Given the description of an element on the screen output the (x, y) to click on. 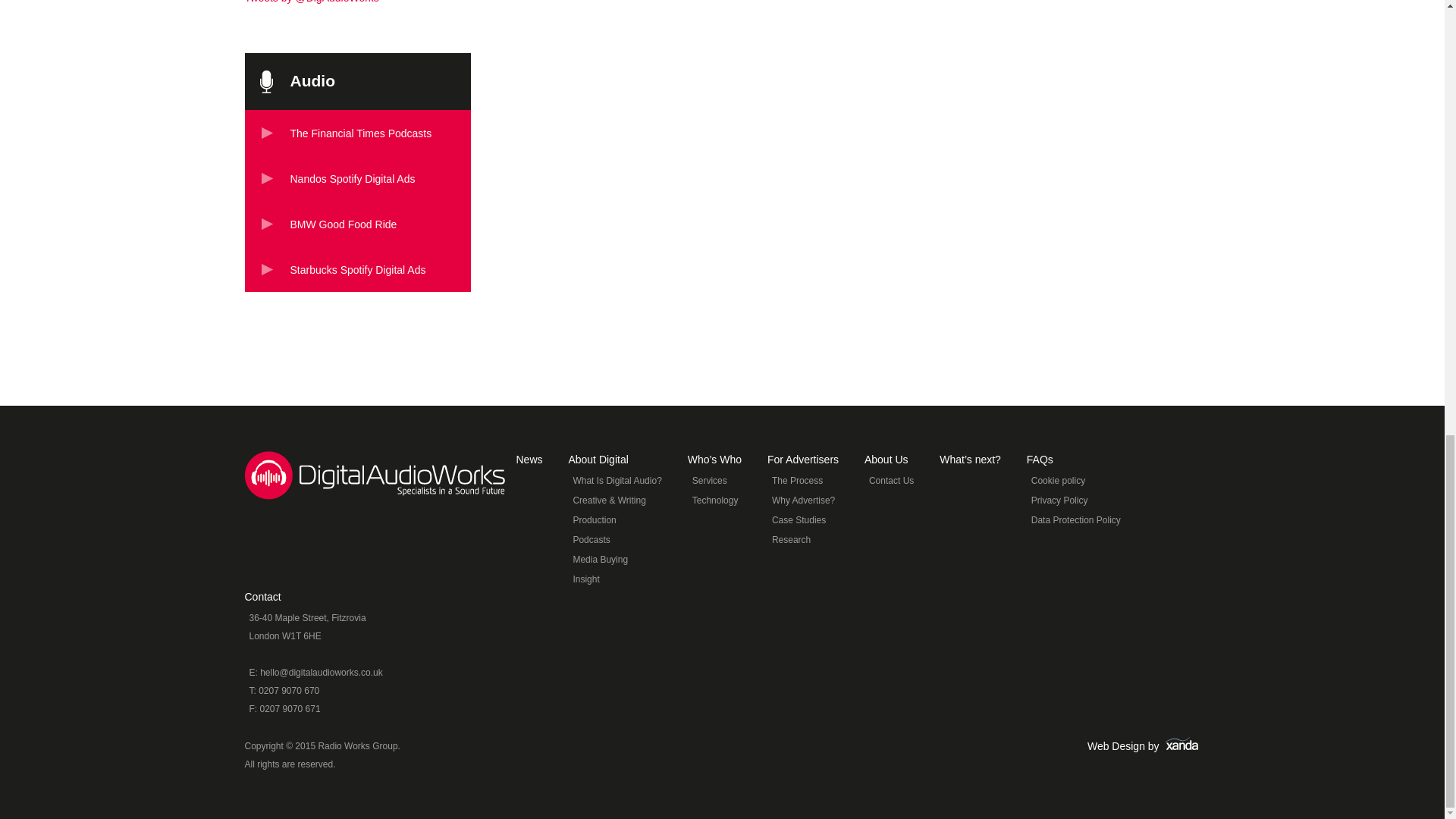
Xanda Ltd (1180, 746)
